Given the description of an element on the screen output the (x, y) to click on. 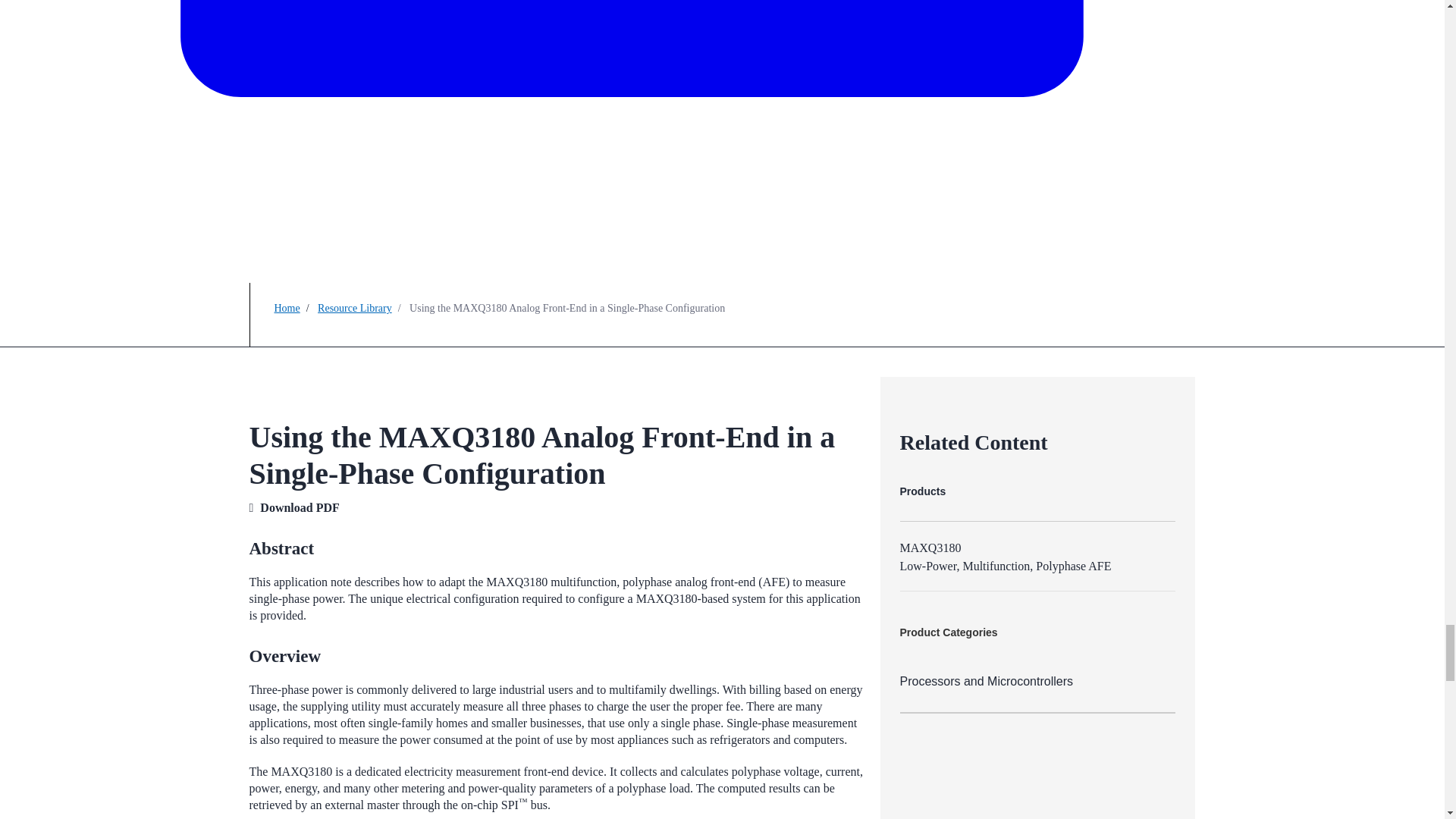
Download PDF (299, 507)
Home (287, 307)
Resource Library (354, 307)
Processors and Microcontrollers (1036, 681)
MAXQ3180 (929, 547)
